Given the description of an element on the screen output the (x, y) to click on. 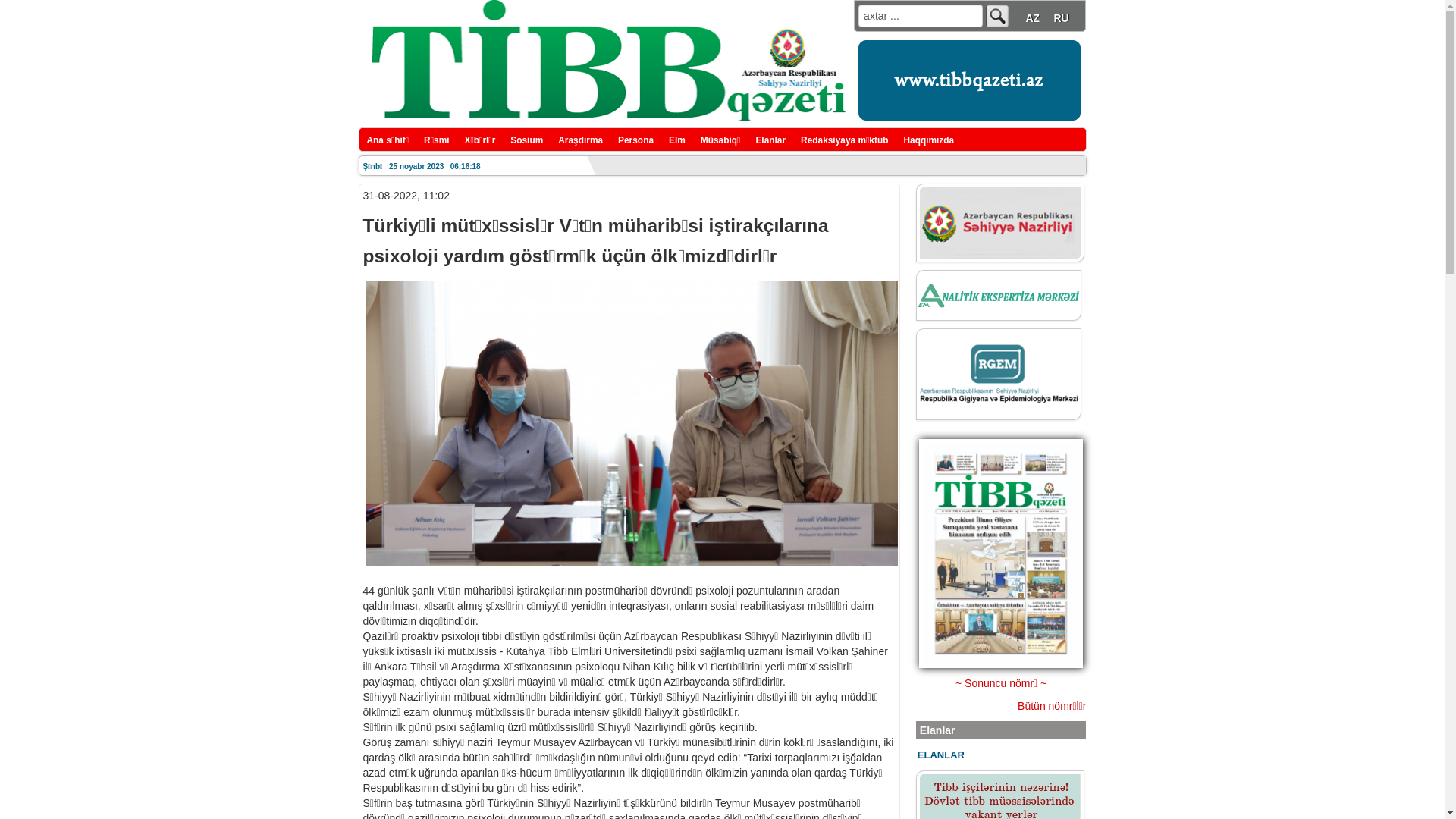
Elanlar Element type: text (770, 139)
Sosium Element type: text (526, 139)
ELANLAR Element type: text (940, 754)
axtar ... Element type: hover (920, 15)
AZ Element type: text (1032, 18)
Persona Element type: text (635, 139)
RU Element type: text (1060, 18)
Elm Element type: text (677, 139)
